Given the description of an element on the screen output the (x, y) to click on. 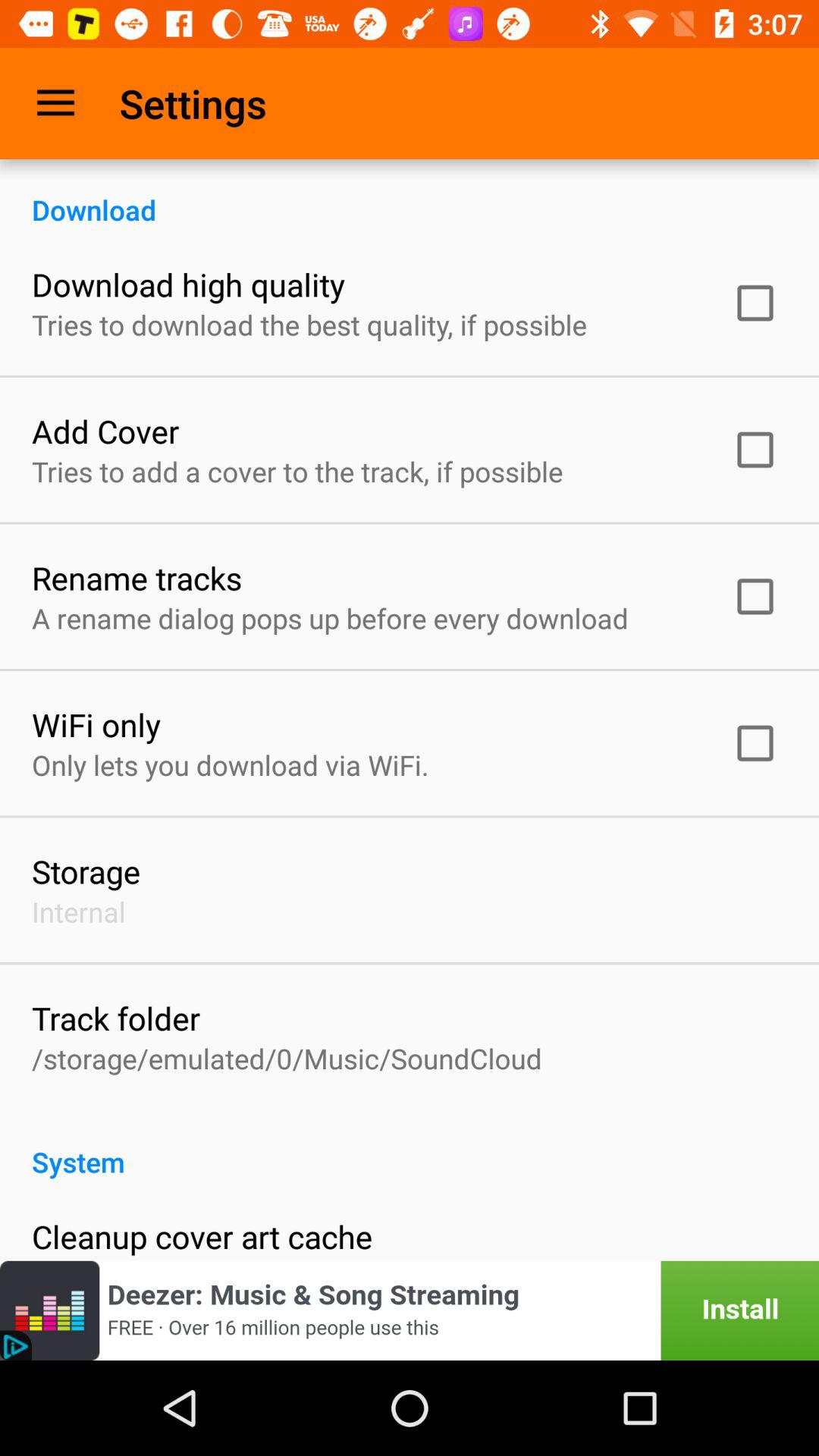
turn off item above system (286, 1058)
